Given the description of an element on the screen output the (x, y) to click on. 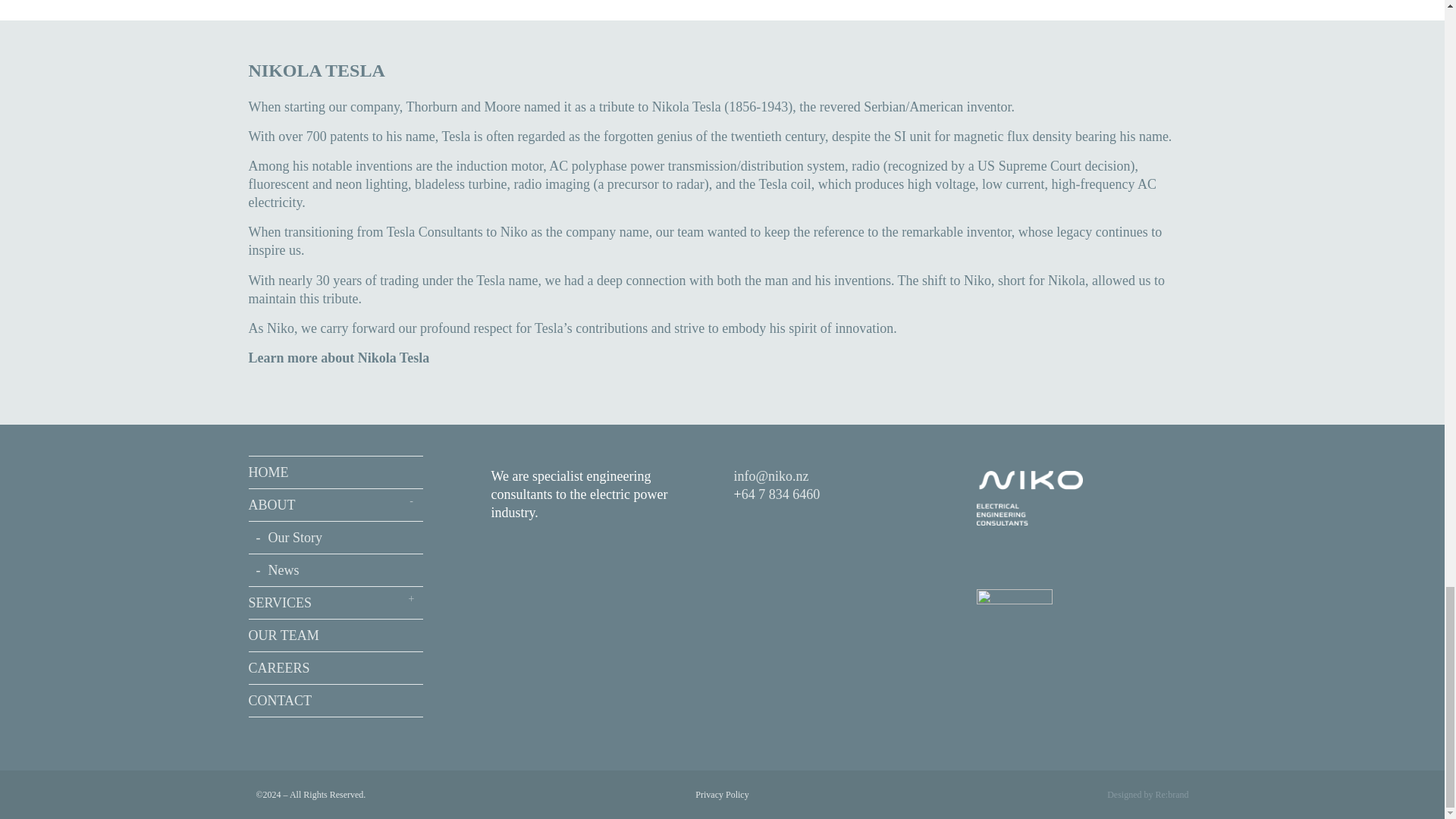
CAREERS (335, 667)
Our Story (335, 537)
Privacy Policy (721, 794)
HOME (335, 471)
64 7 834 6460 (781, 494)
ABOUT (335, 504)
CONTACT (335, 700)
Designed by Re:brand (1147, 794)
OUR TEAM (335, 635)
SERVICES (335, 603)
News (335, 570)
Learn more about Nikola Tesla (338, 357)
